Given the description of an element on the screen output the (x, y) to click on. 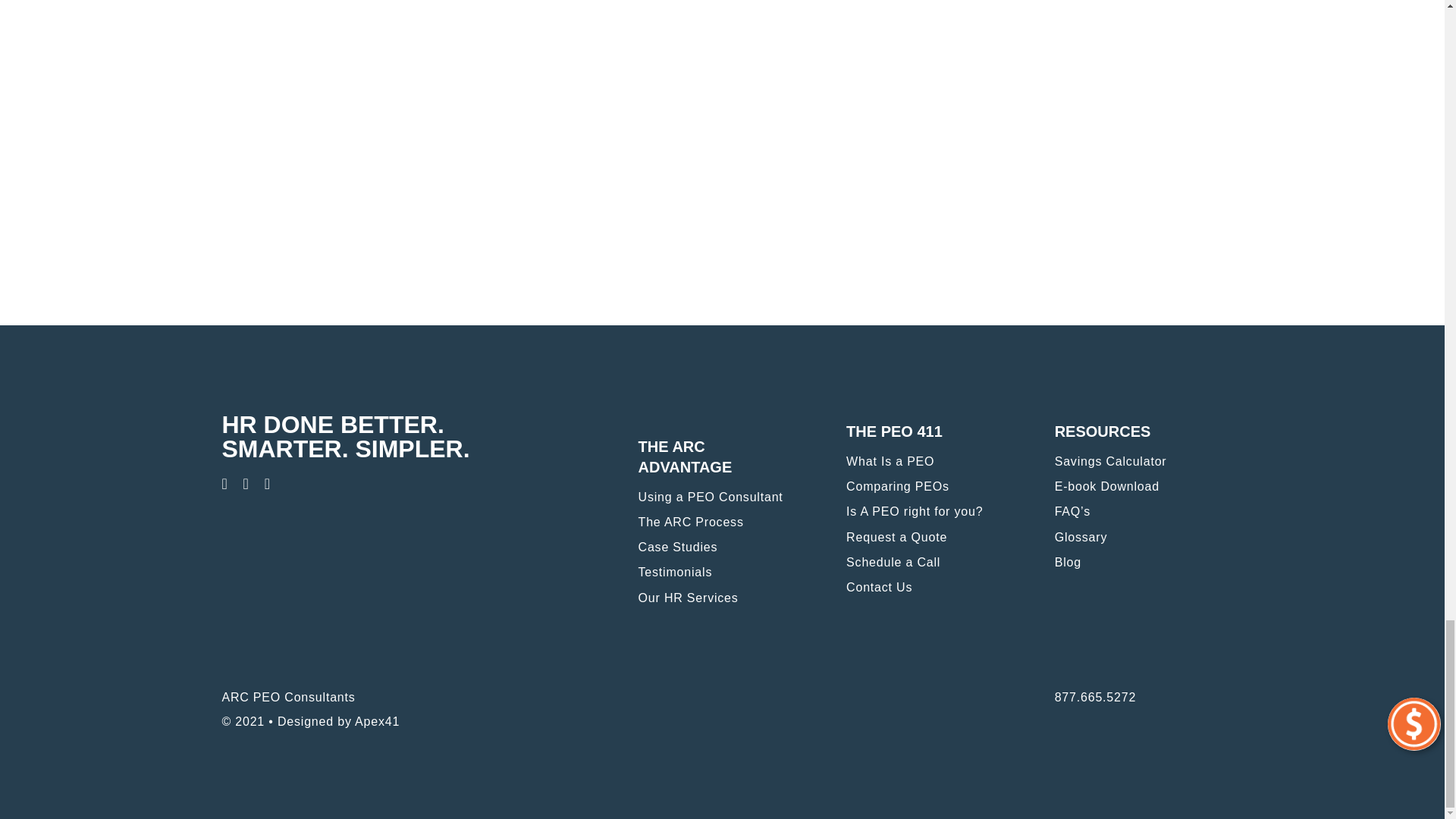
The ARC Process (722, 526)
E-book Download (1138, 490)
Using a PEO Consultant (722, 500)
Case Studies (722, 550)
Testimonials (722, 576)
